Given the description of an element on the screen output the (x, y) to click on. 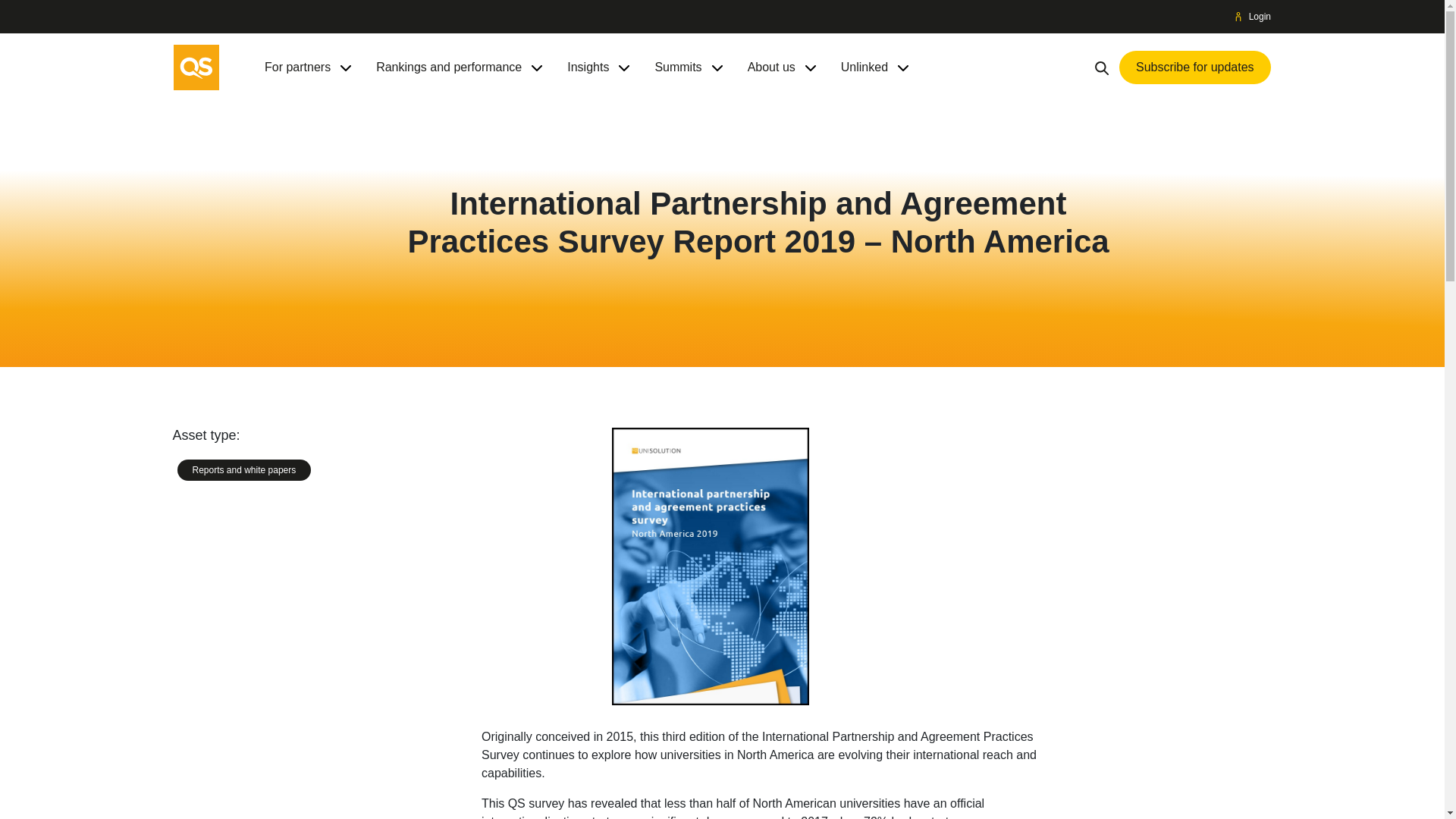
For partners (297, 67)
Rankings and performance (448, 67)
Login (1252, 17)
Summits (677, 67)
Insights (587, 67)
For partners (297, 67)
